Given the description of an element on the screen output the (x, y) to click on. 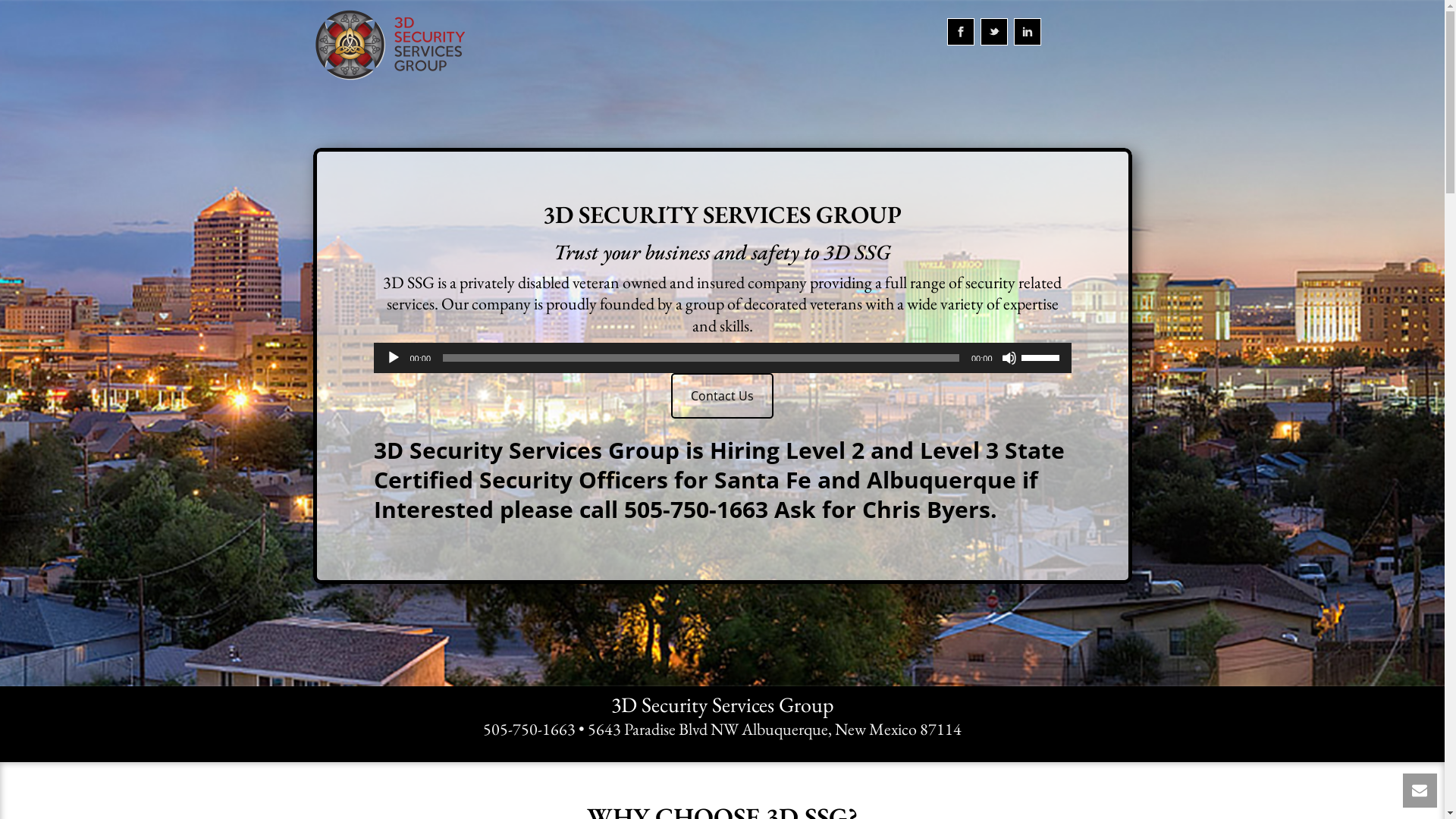
Use Up/Down Arrow keys to increase or decrease volume. Element type: text (1041, 356)
Contact Us Element type: text (722, 395)
Play Element type: hover (392, 357)
Mute Element type: hover (1008, 357)
